Given the description of an element on the screen output the (x, y) to click on. 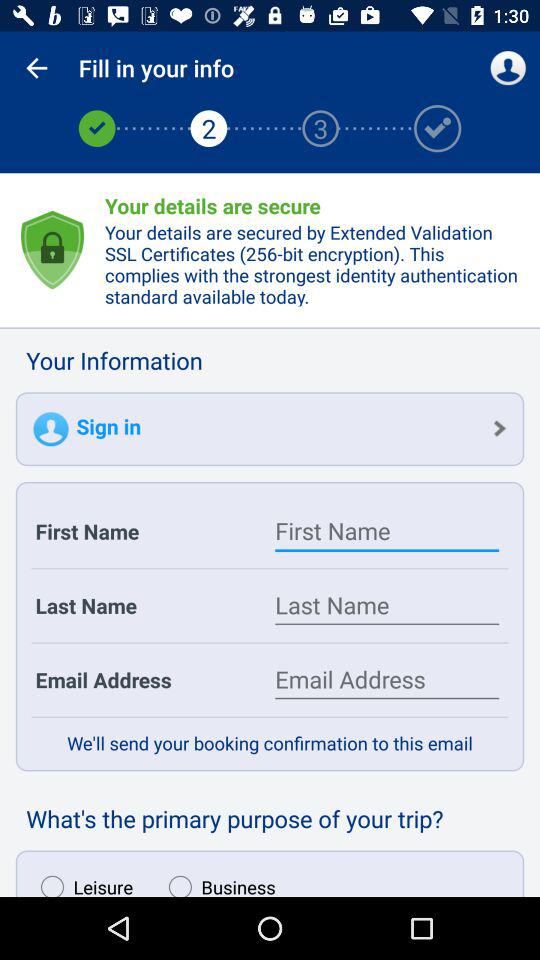
select sign in app (269, 429)
